Given the description of an element on the screen output the (x, y) to click on. 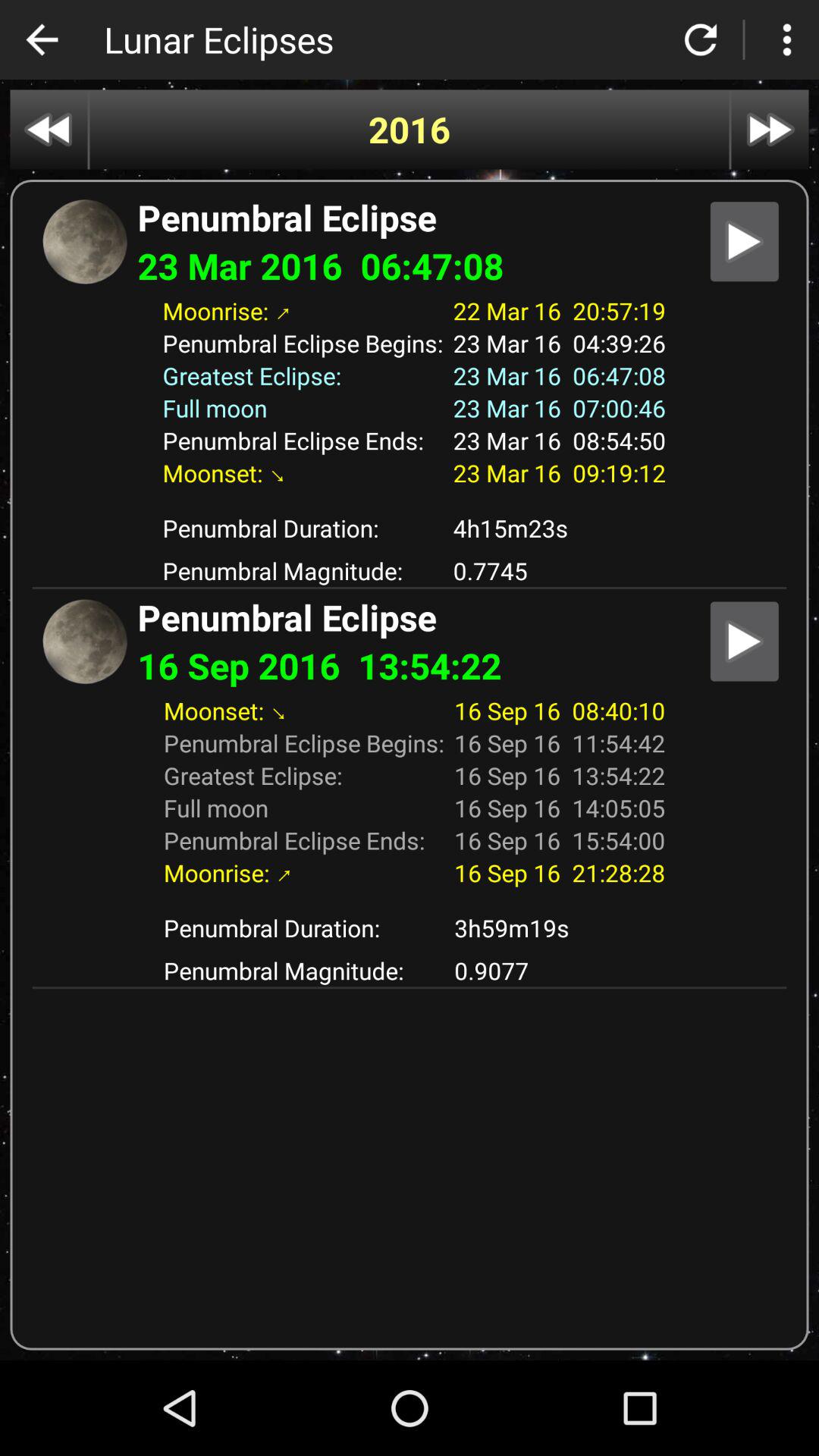
turn on the icon next to penumbral duration: app (559, 927)
